Given the description of an element on the screen output the (x, y) to click on. 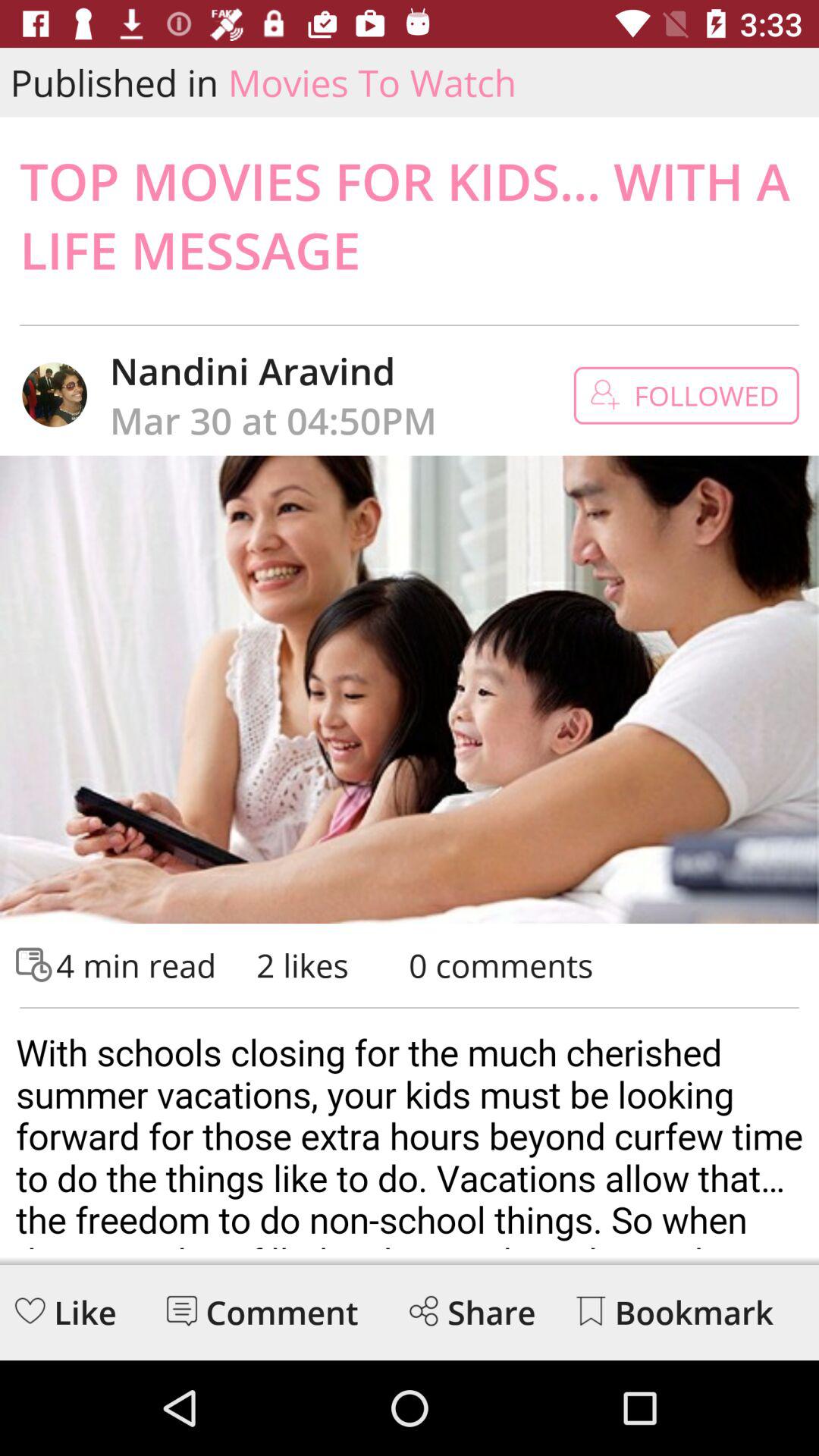
comment (181, 1310)
